Given the description of an element on the screen output the (x, y) to click on. 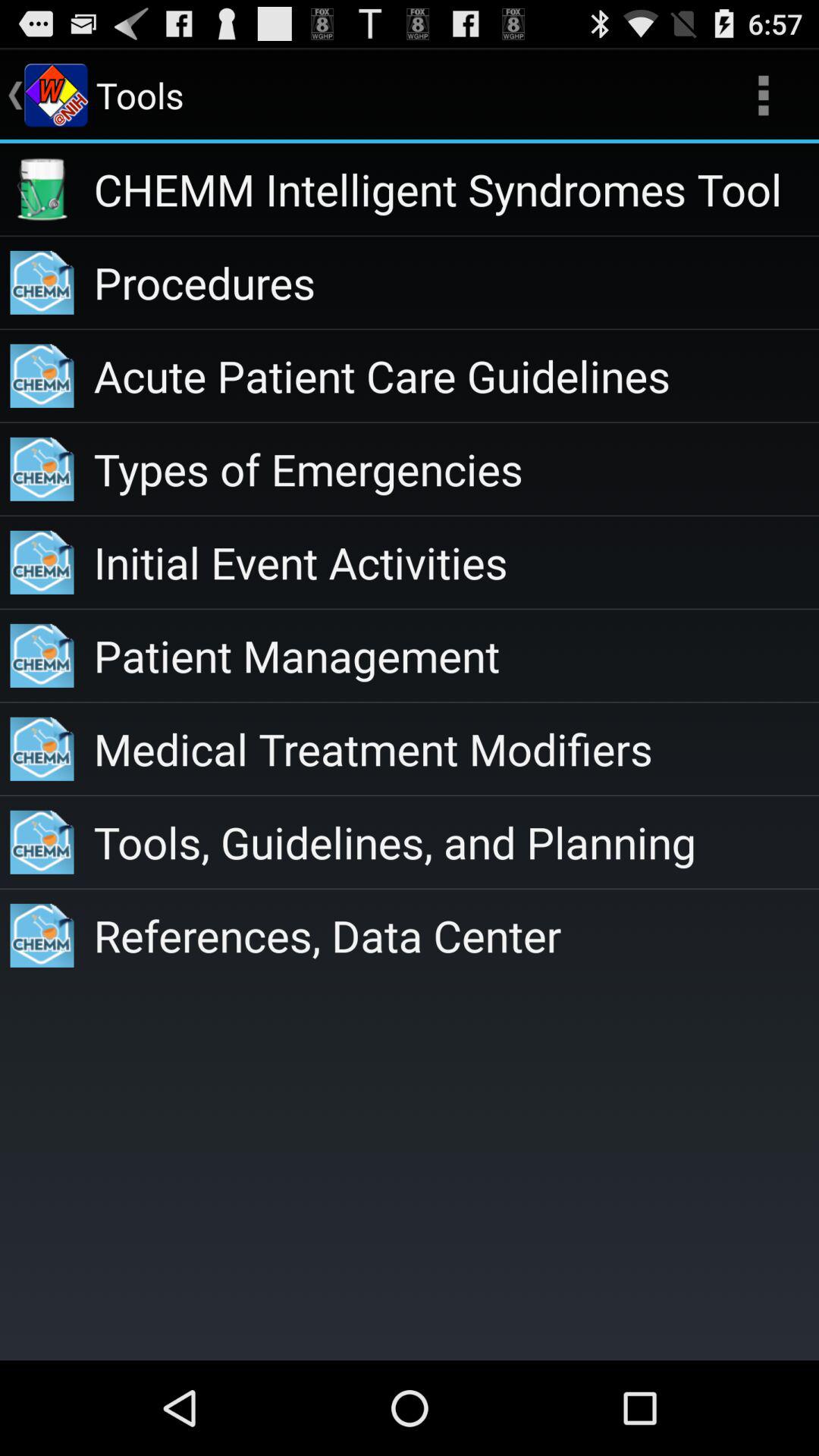
select icon above references, data center icon (456, 842)
